Given the description of an element on the screen output the (x, y) to click on. 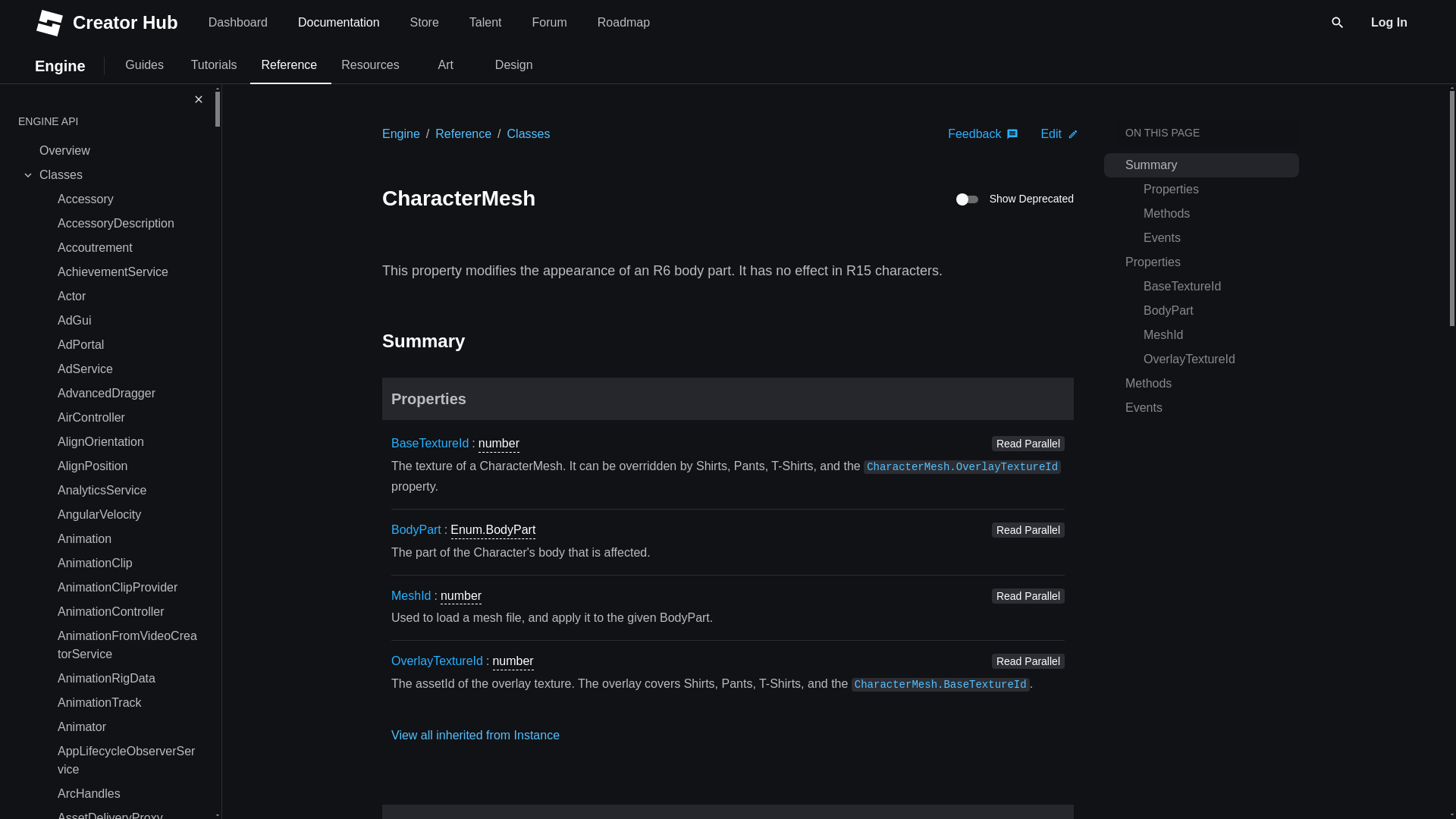
AdGui (127, 320)
AchievementService (127, 272)
Resources (369, 64)
Documentation (338, 22)
Roadmap (329, 64)
Talent (623, 22)
Reference (485, 22)
AirController (288, 64)
AnimationController (127, 417)
Art (127, 611)
Forum (446, 64)
AppLifecycleObserverService (549, 22)
Accoutrement (127, 760)
